Given the description of an element on the screen output the (x, y) to click on. 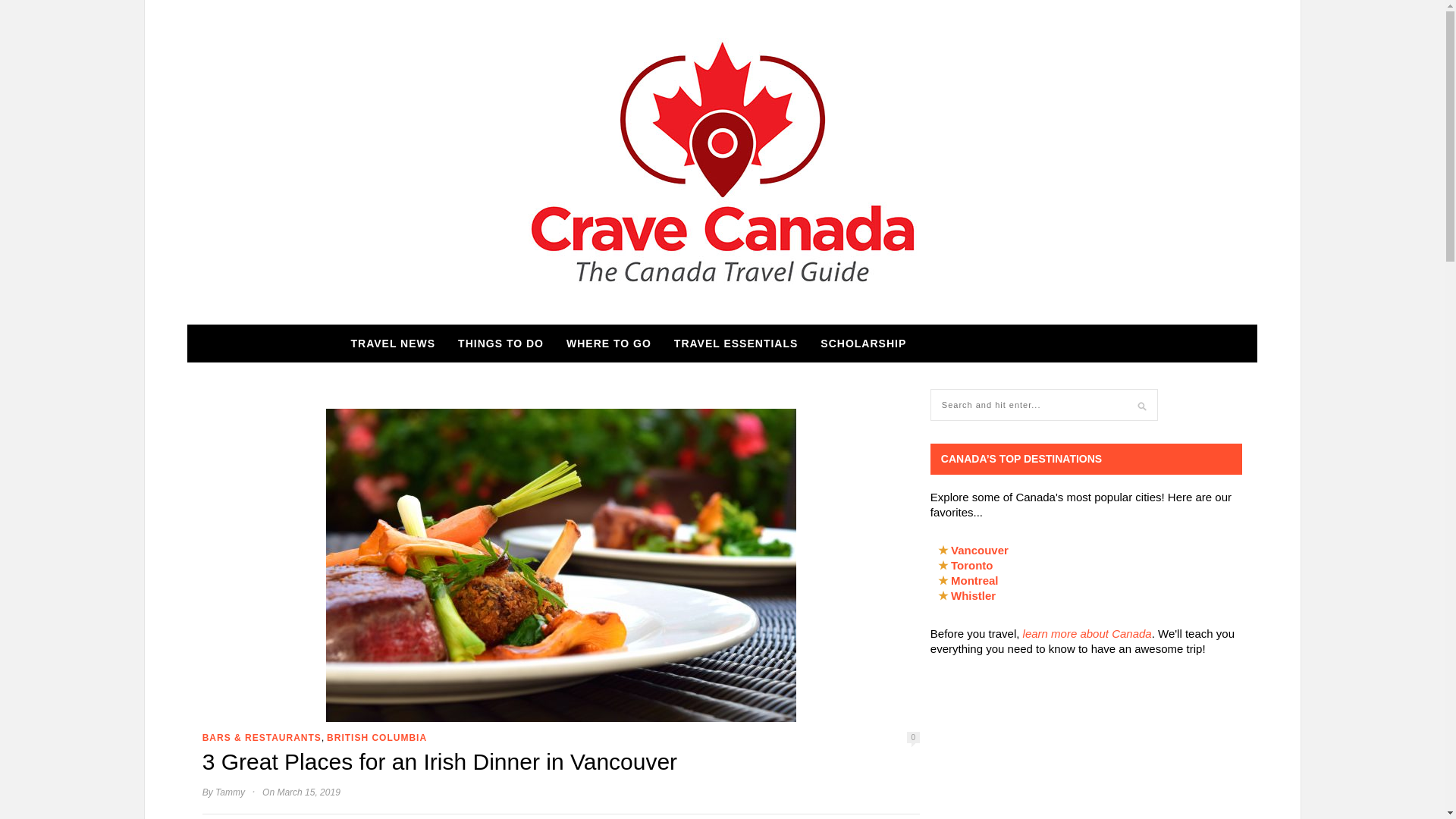
WHERE TO GO (608, 343)
TRAVEL NEWS (392, 343)
SCHOLARSHIP (863, 343)
Tammy (229, 792)
0 (913, 737)
TRAVEL ESSENTIALS (735, 343)
Posts by Tammy (229, 792)
THINGS TO DO (500, 343)
BRITISH COLUMBIA (376, 737)
